Given the description of an element on the screen output the (x, y) to click on. 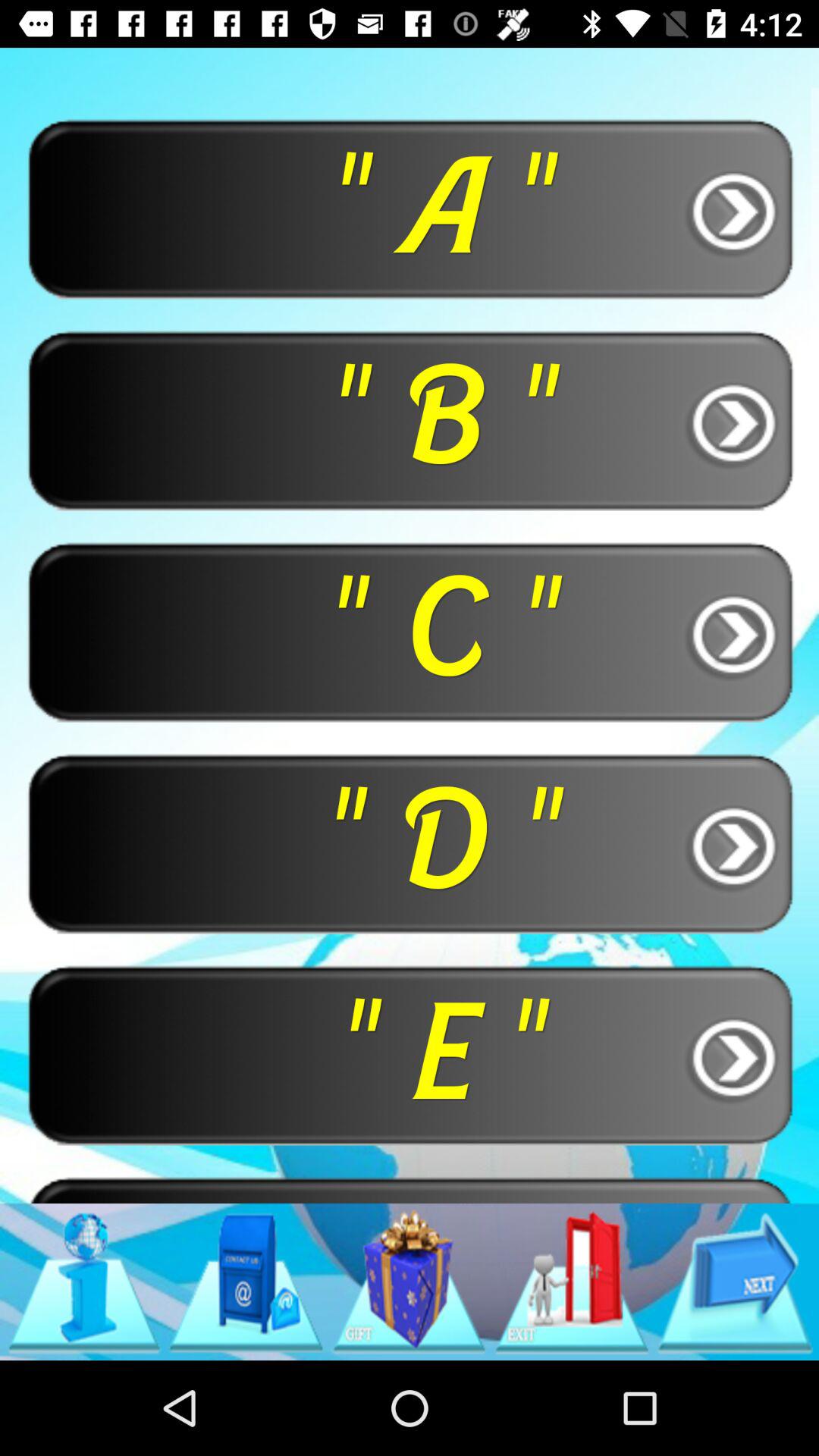
tap " a " icon (409, 208)
